Given the description of an element on the screen output the (x, y) to click on. 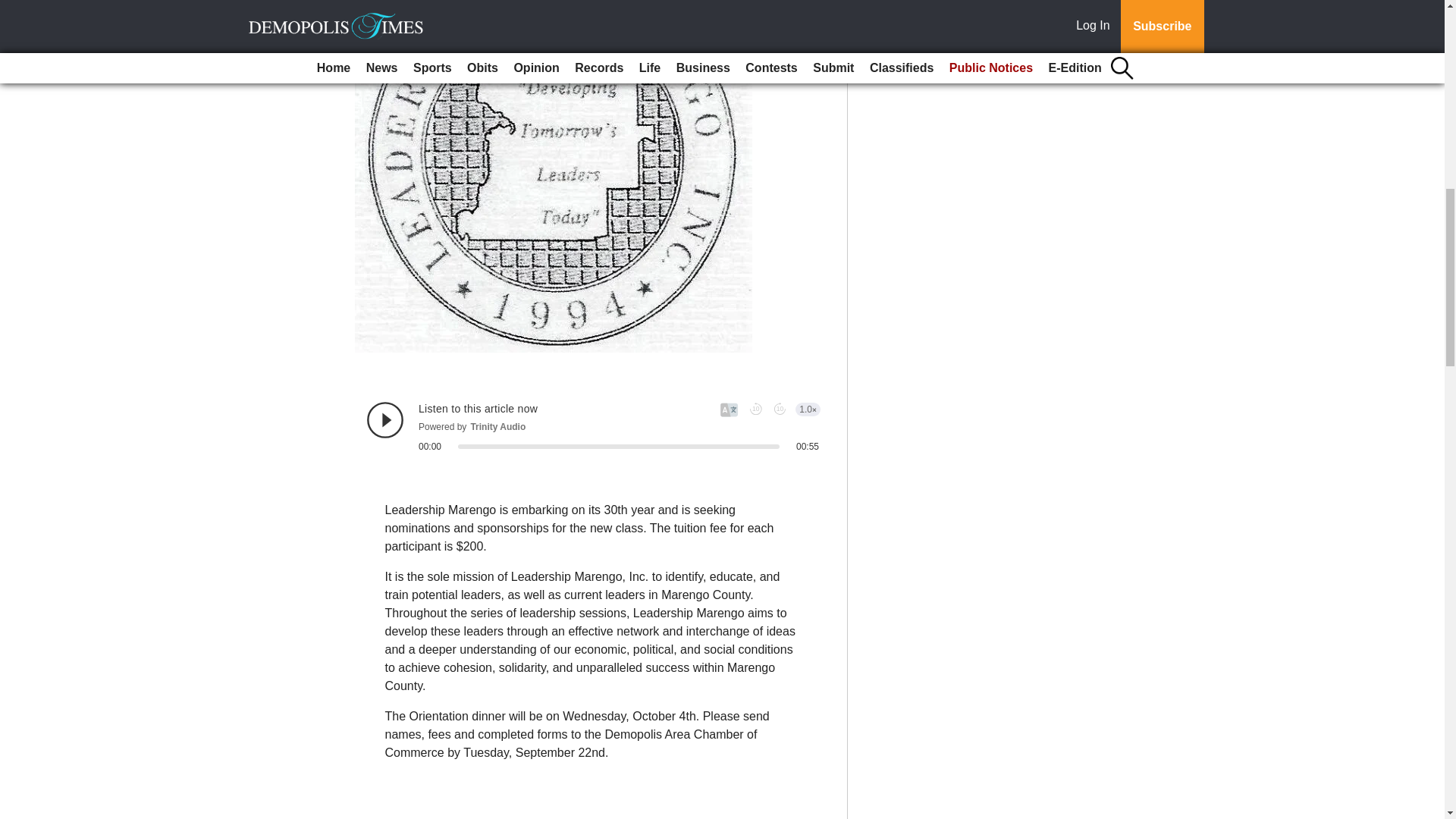
Trinity Audio Player (592, 426)
